Given the description of an element on the screen output the (x, y) to click on. 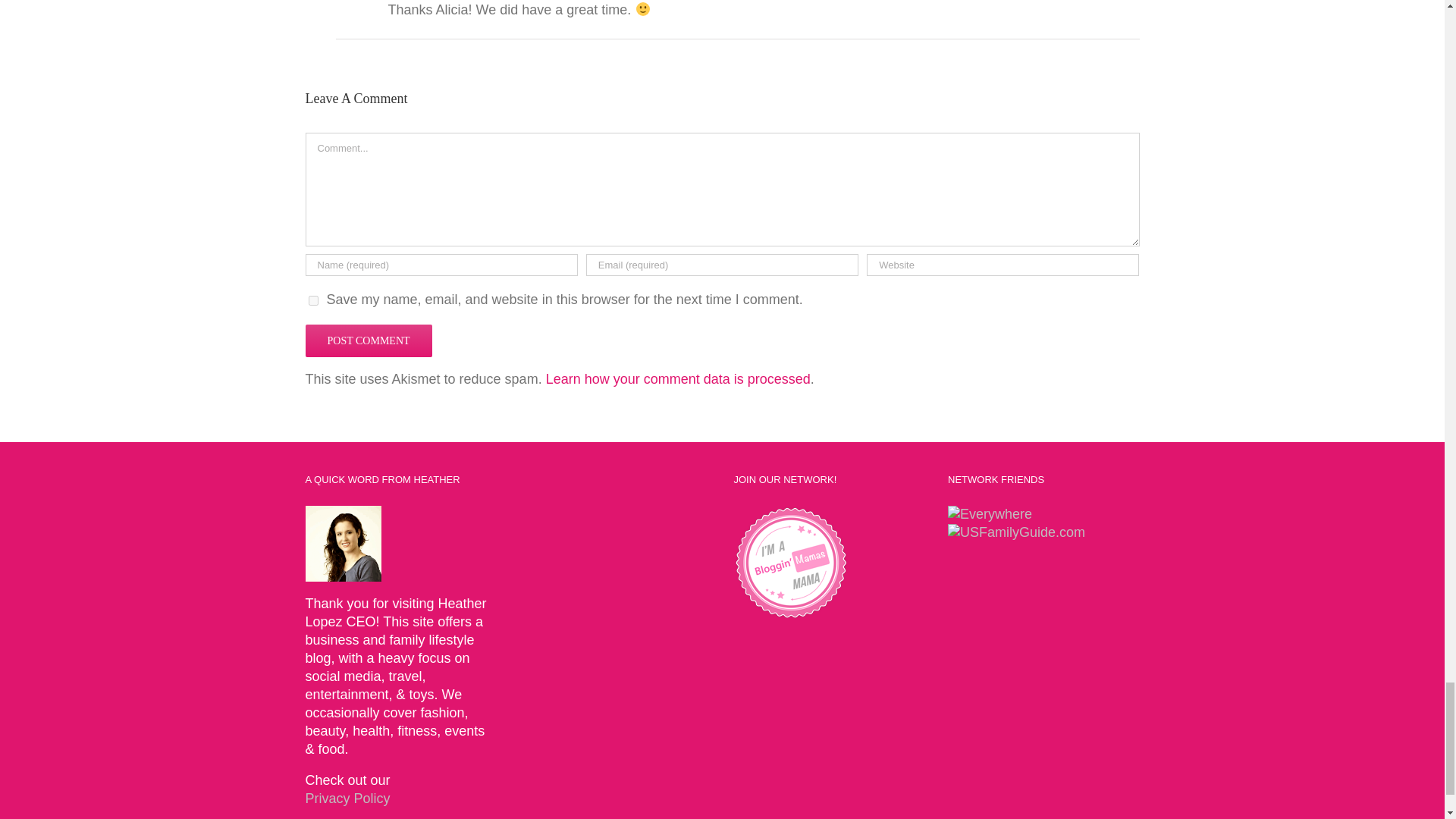
Post Comment (367, 340)
yes (312, 300)
